Given the description of an element on the screen output the (x, y) to click on. 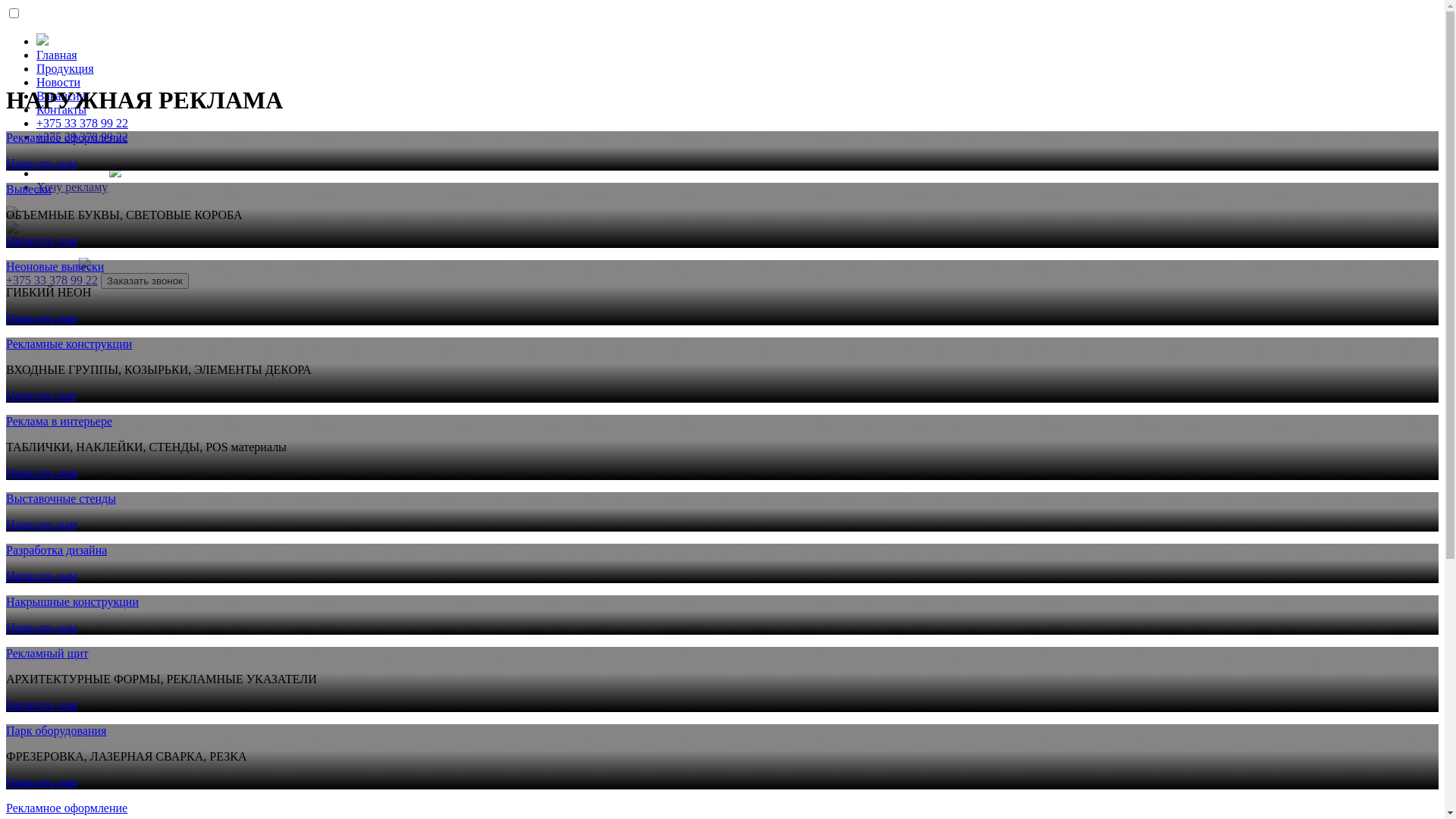
+375 33 378 99 22 Element type: text (82, 122)
+375 33 378 99 22 Element type: text (51, 279)
+375 29 378 99 22 Element type: text (82, 136)
